Given the description of an element on the screen output the (x, y) to click on. 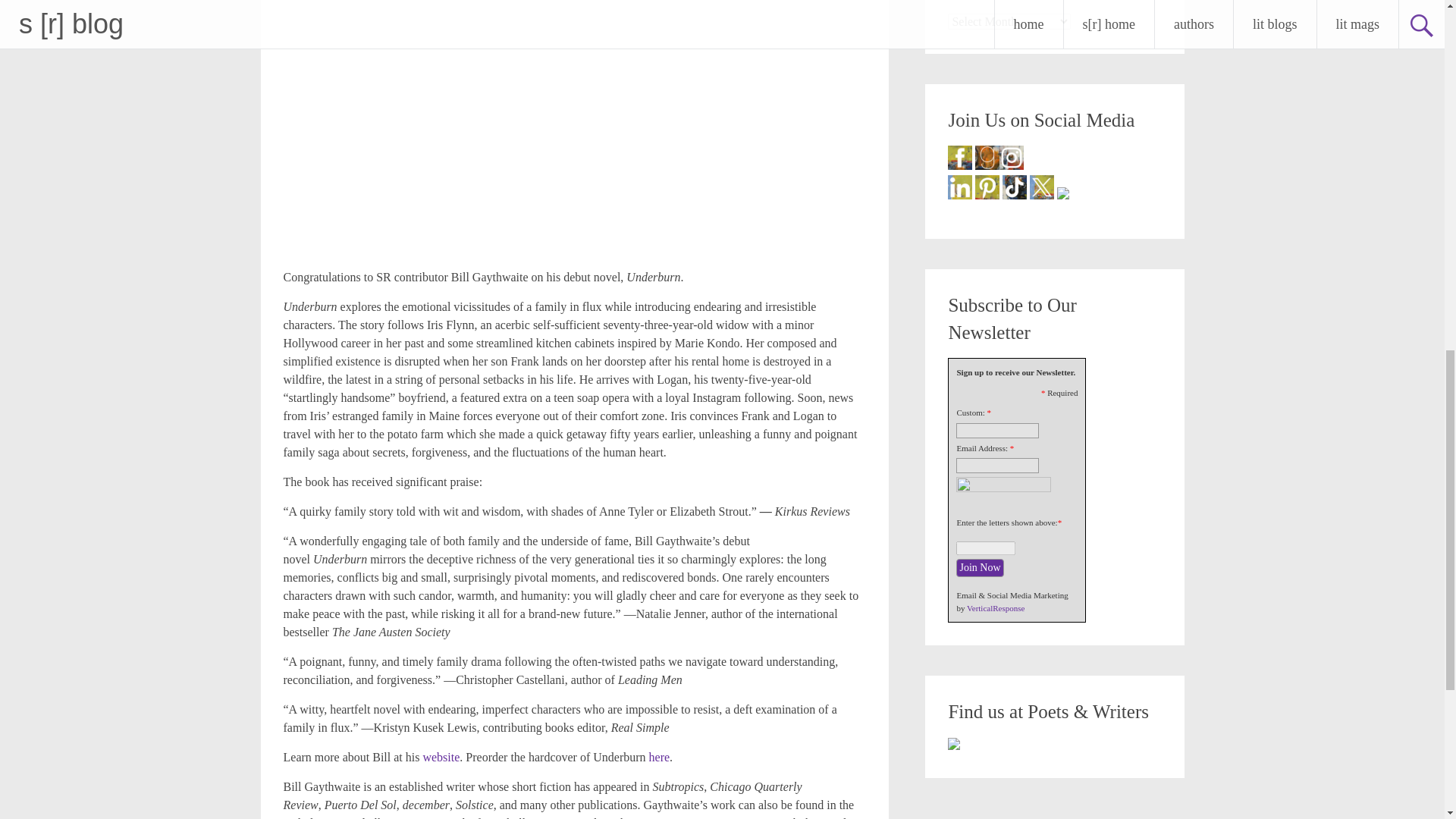
website (441, 757)
Join Now (979, 566)
VerticalResponse (995, 607)
Join Now (979, 566)
Superstition Review on Instagram (1010, 157)
here (659, 757)
